Given the description of an element on the screen output the (x, y) to click on. 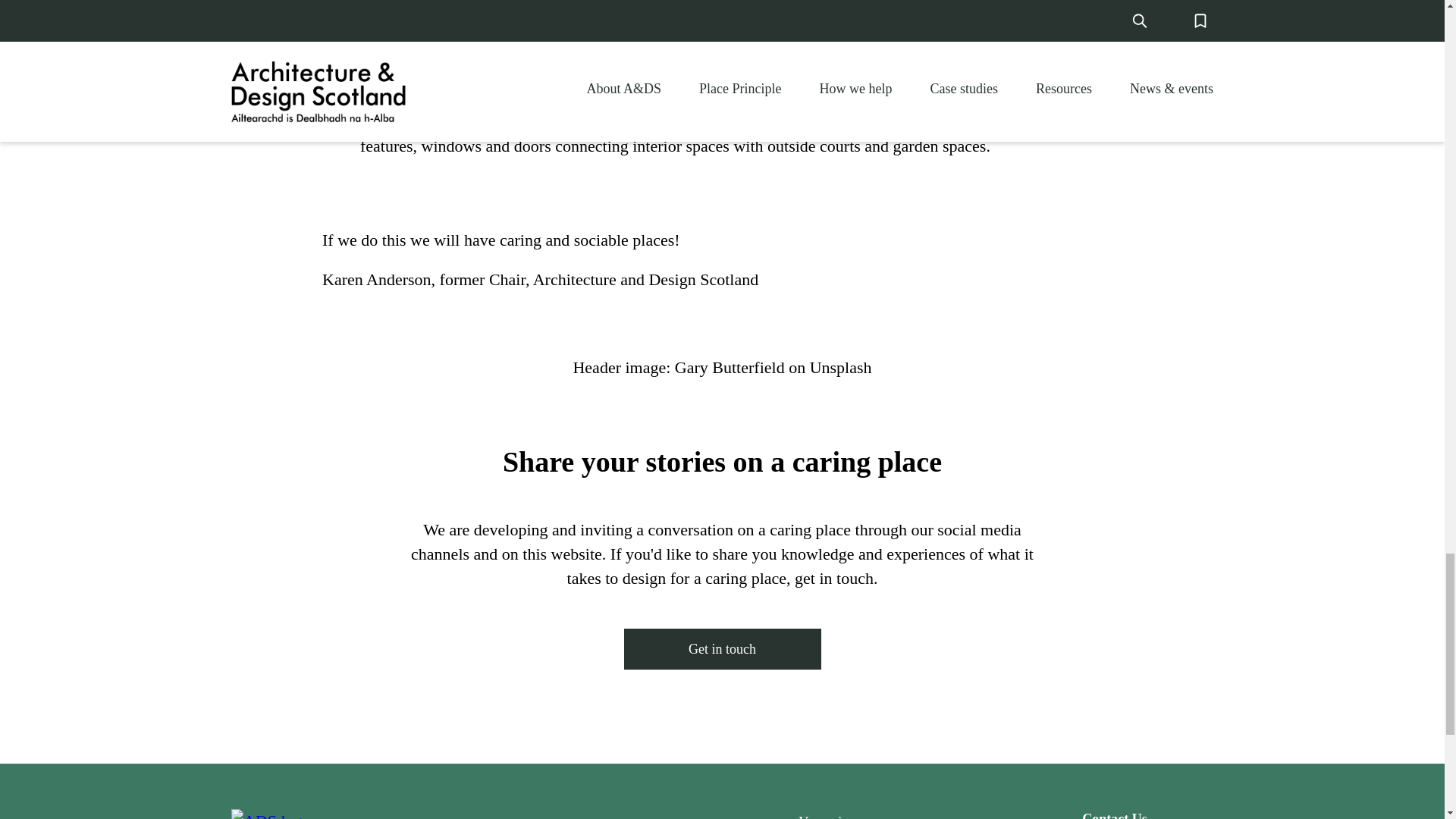
Vacancies (825, 814)
Get in touch (722, 648)
